Given the description of an element on the screen output the (x, y) to click on. 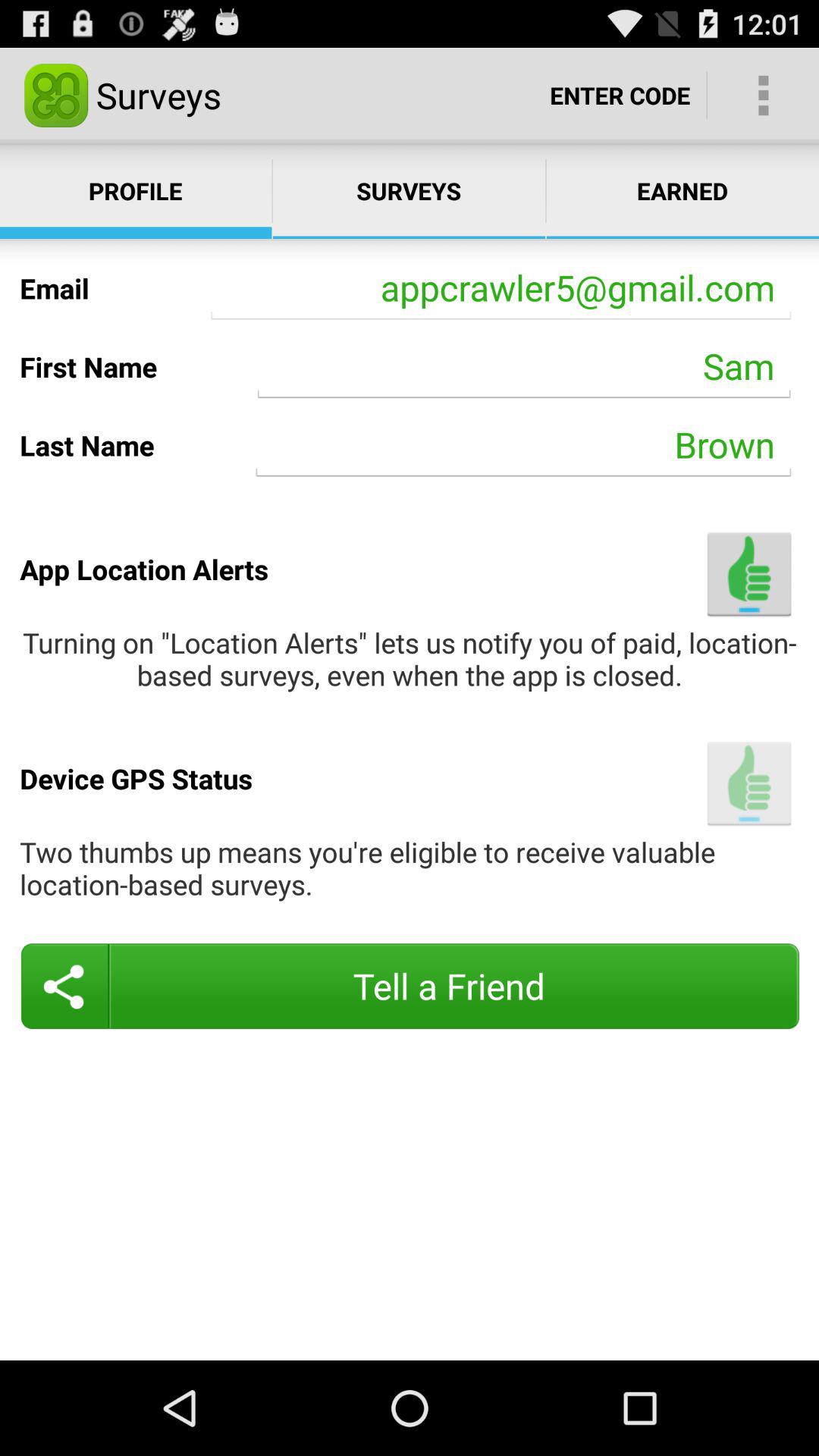
click on the text enter code (619, 95)
click on the search bar beside the text email (501, 287)
